Given the description of an element on the screen output the (x, y) to click on. 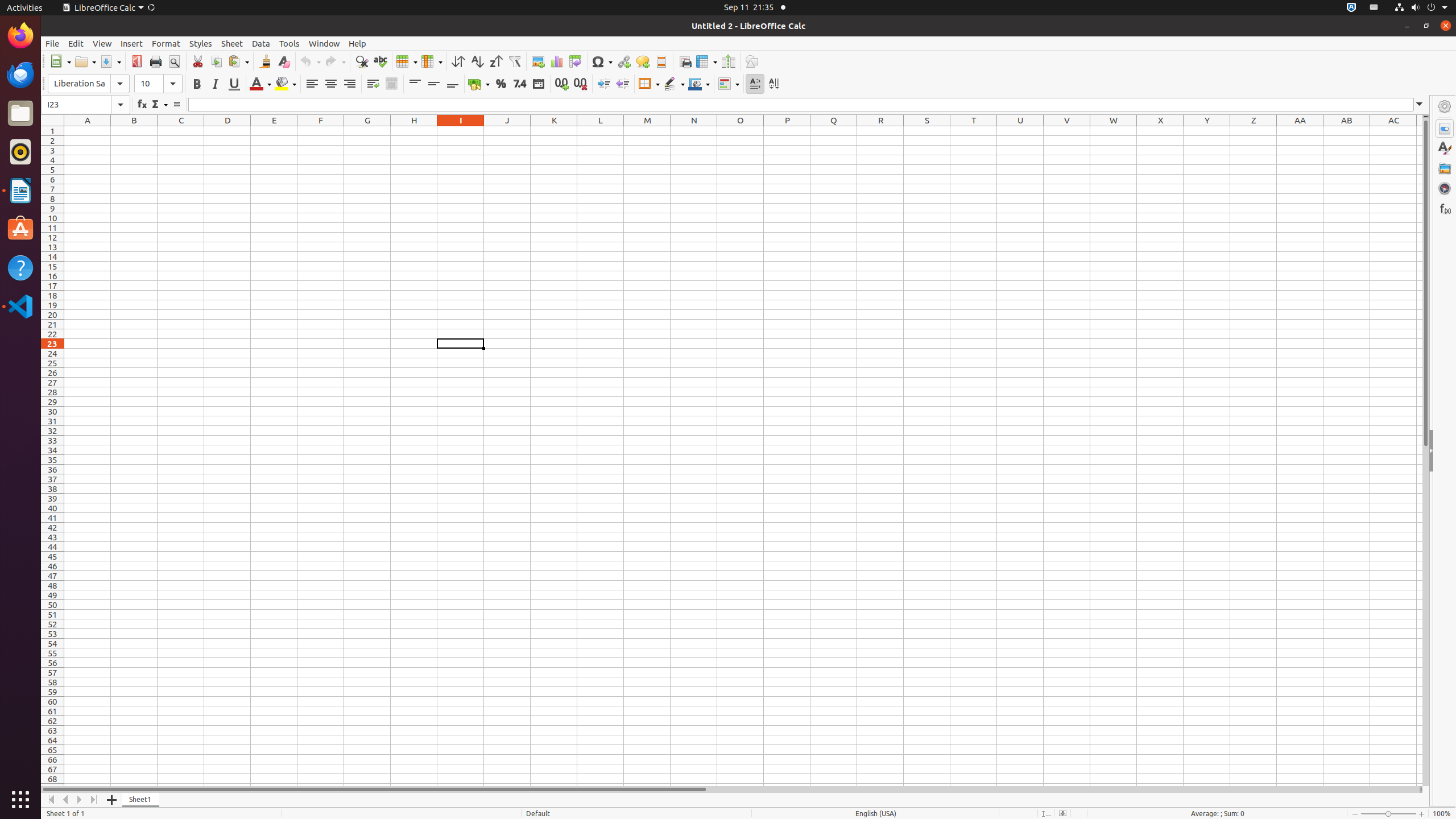
Image Element type: push-button (537, 61)
Align Bottom Element type: push-button (452, 83)
J1 Element type: table-cell (507, 130)
Underline Element type: push-button (233, 83)
V1 Element type: table-cell (1066, 130)
